Given the description of an element on the screen output the (x, y) to click on. 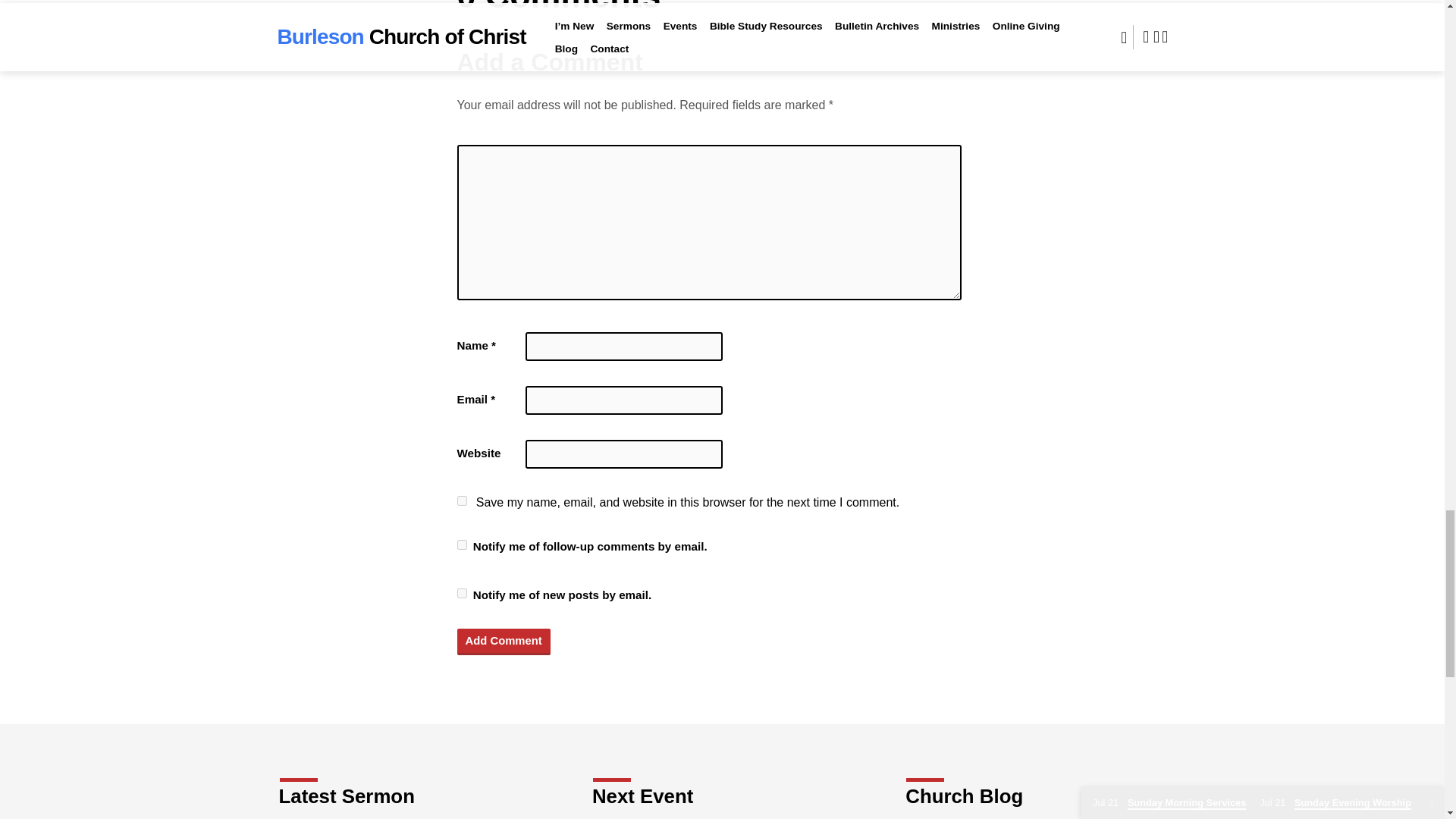
Add Comment (503, 641)
yes (461, 501)
subscribe (461, 593)
subscribe (461, 544)
